Given the description of an element on the screen output the (x, y) to click on. 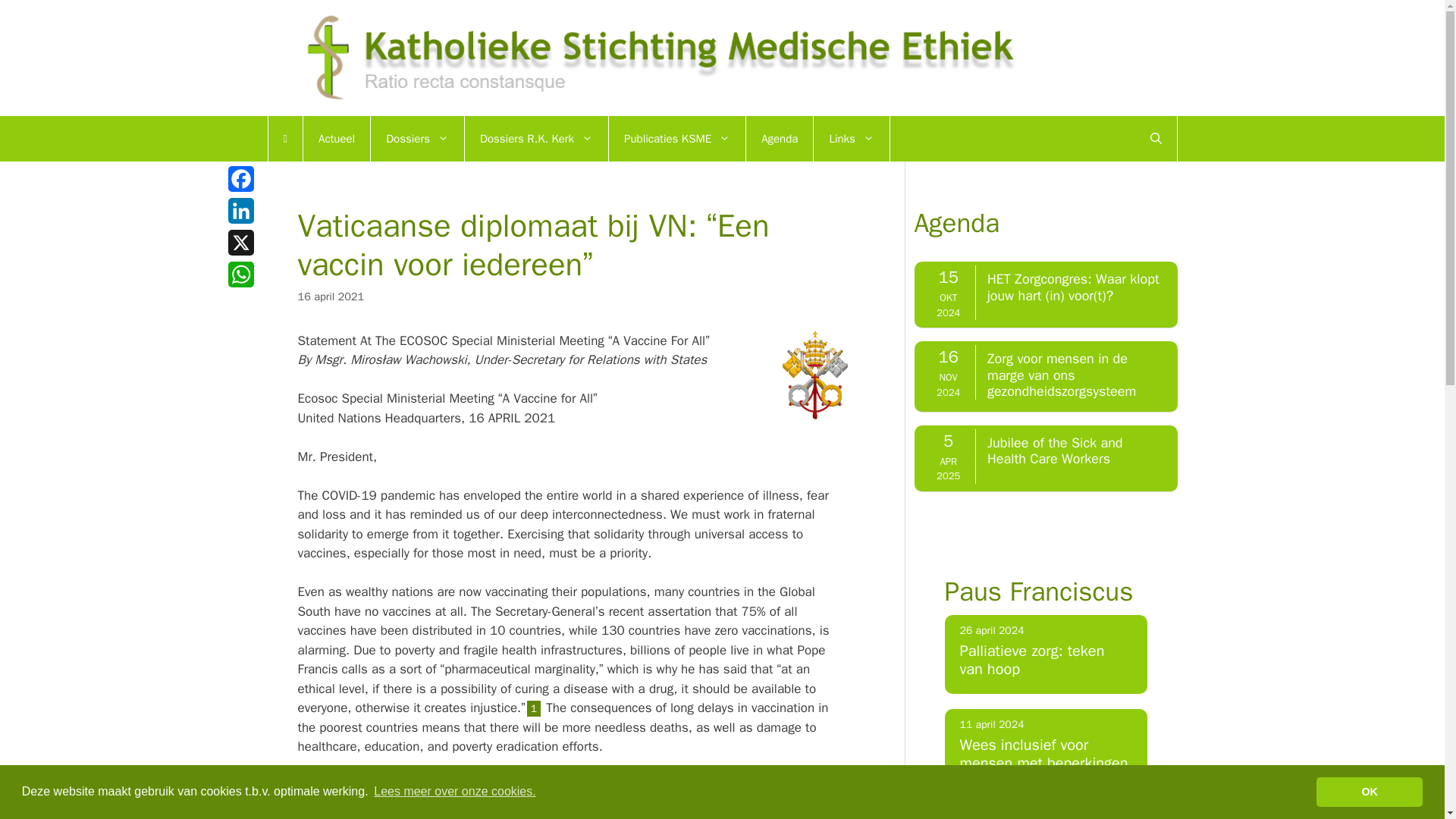
Publicaties KSME (676, 138)
Agenda (778, 138)
OK (1369, 791)
Links (850, 138)
Dossiers R.K. Kerk (536, 138)
Actueel (335, 138)
Lees meer over onze cookies. (454, 791)
Dossiers (416, 138)
